Given the description of an element on the screen output the (x, y) to click on. 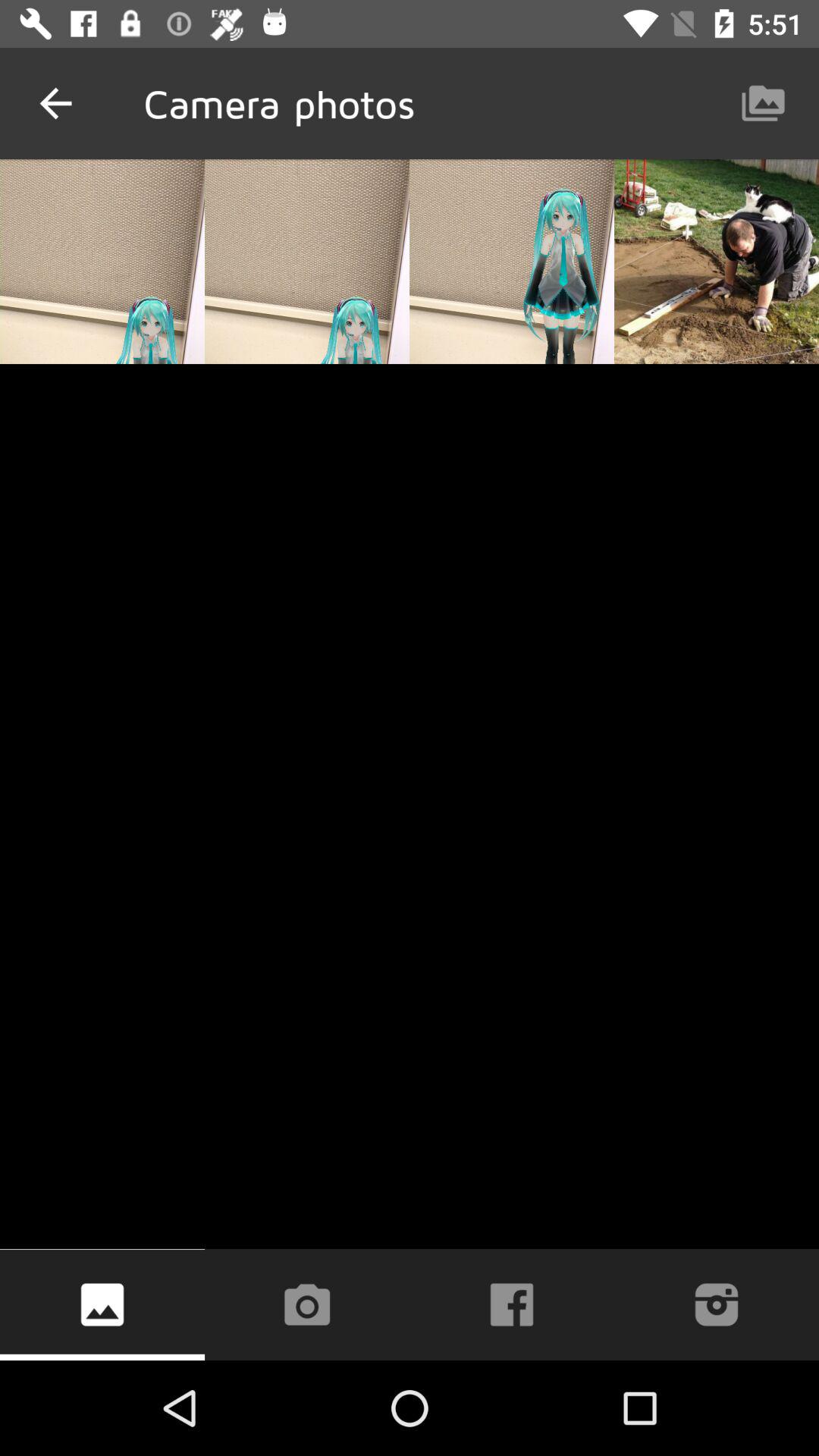
view gallery (102, 1304)
